Given the description of an element on the screen output the (x, y) to click on. 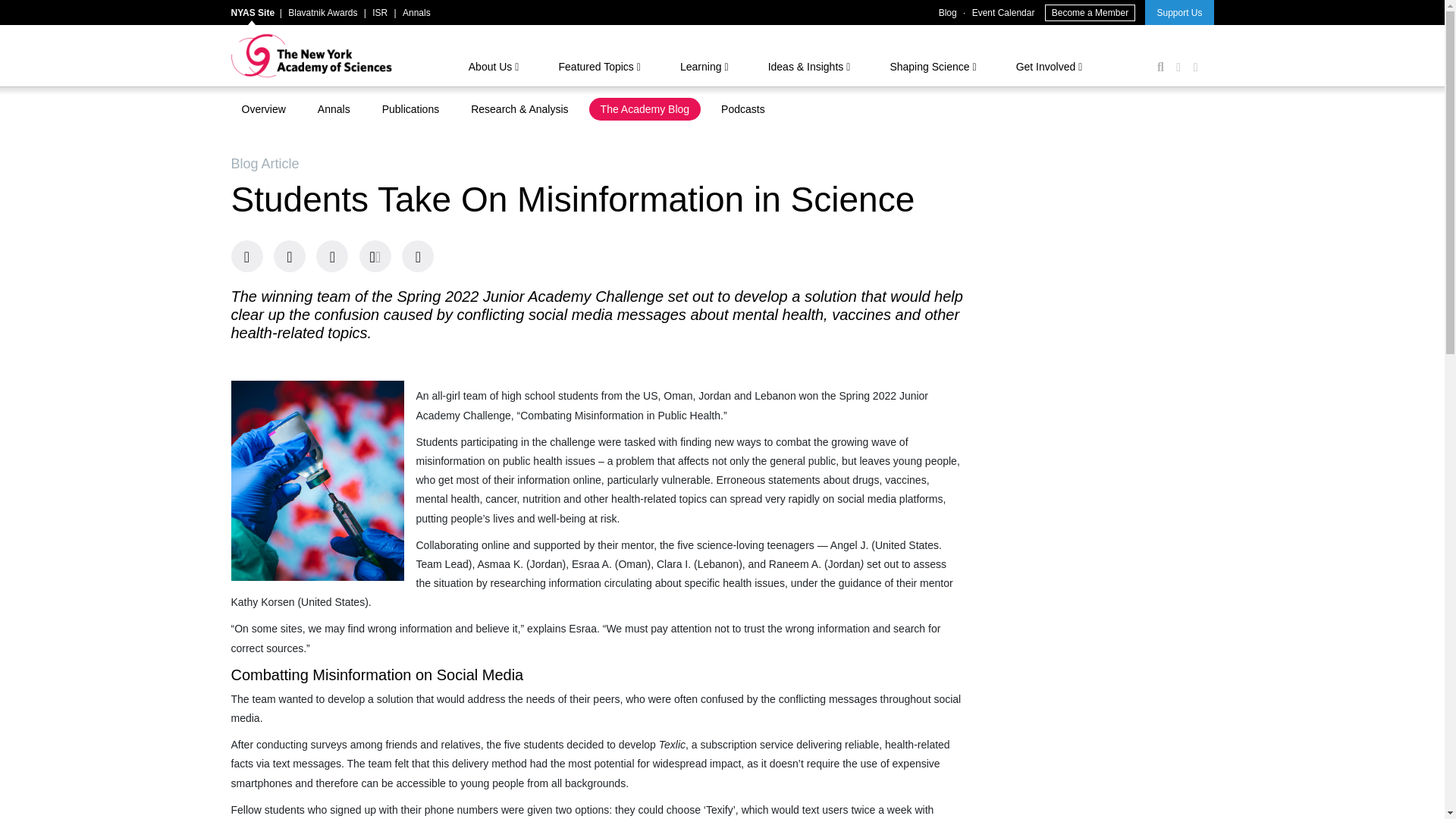
Shaping Science (935, 68)
Blavatnik Awards (322, 12)
Annals (416, 12)
Learning (706, 68)
NYAS (310, 55)
Support Us (1179, 12)
About Us (496, 68)
Event Calendar (1003, 12)
Featured Topics (602, 68)
Blog (947, 12)
Become a Member (1090, 12)
About Us (496, 68)
ISR (379, 12)
Learning (706, 68)
Featured Topics (602, 68)
